Given the description of an element on the screen output the (x, y) to click on. 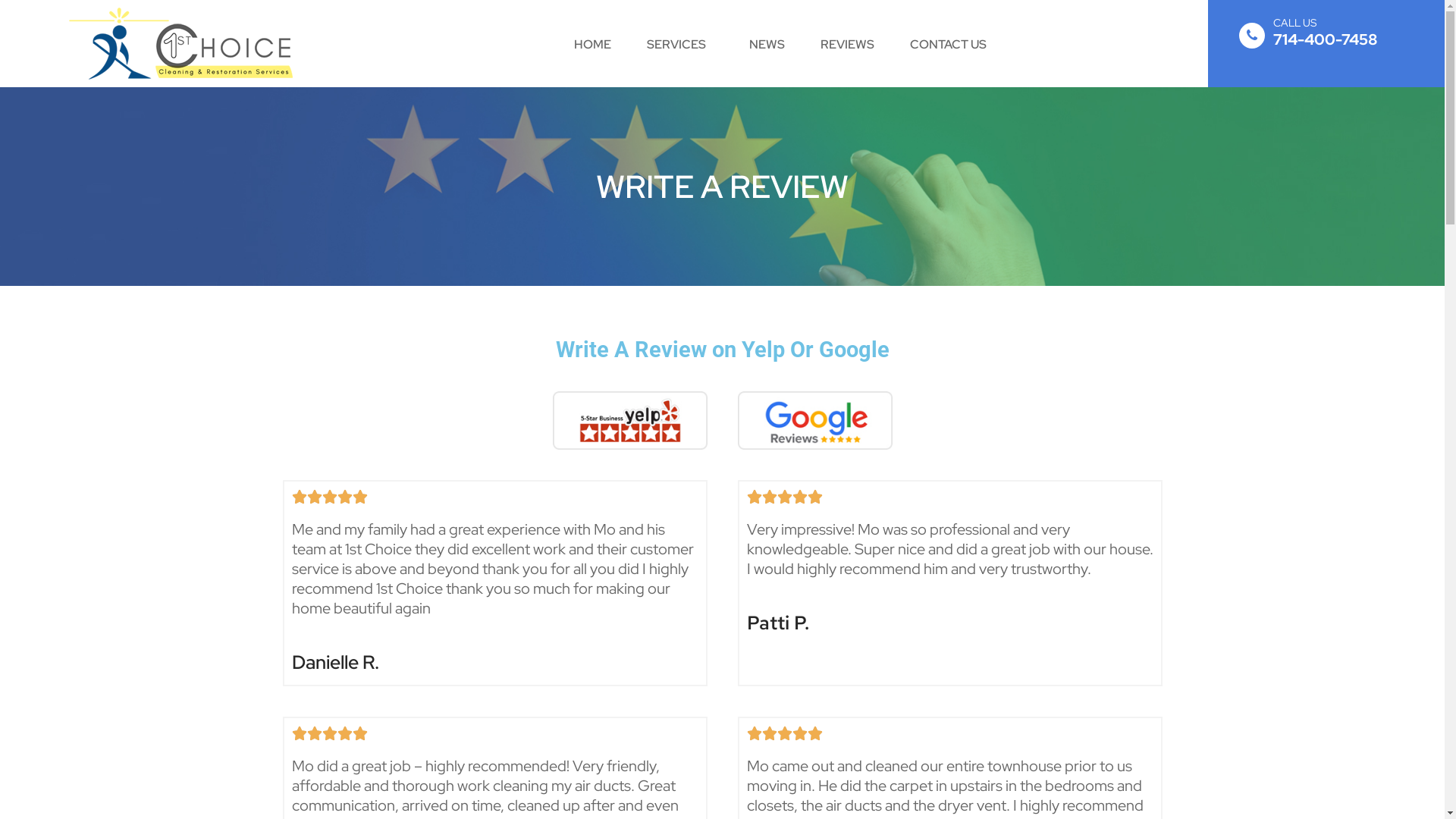
CONTACT US Element type: text (948, 44)
CALL US
714-400-7458 Element type: text (1325, 31)
HOME Element type: text (592, 44)
NEWS Element type: text (766, 44)
REVIEWS Element type: text (847, 44)
SERVICES Element type: text (679, 44)
